Given the description of an element on the screen output the (x, y) to click on. 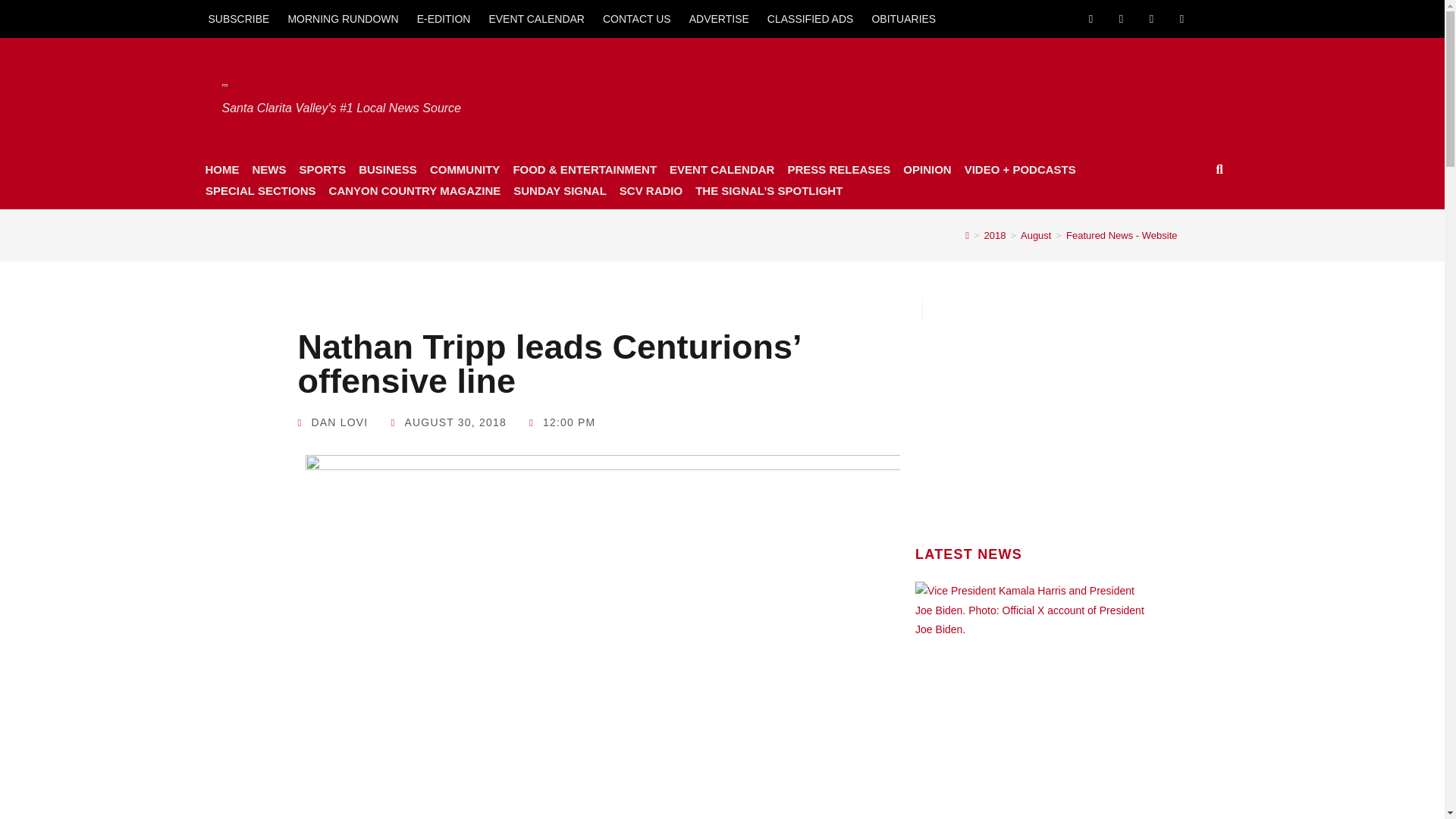
SUBSCRIBE (238, 18)
OBITUARIES (902, 18)
CONTACT US (636, 18)
CLASSIFIED ADS (810, 18)
NEWS (269, 169)
ADVERTISE (718, 18)
EVENT CALENDAR (536, 18)
MORNING RUNDOWN (342, 18)
E-EDITION (443, 18)
HOME (221, 169)
SPORTS (322, 169)
